Given the description of an element on the screen output the (x, y) to click on. 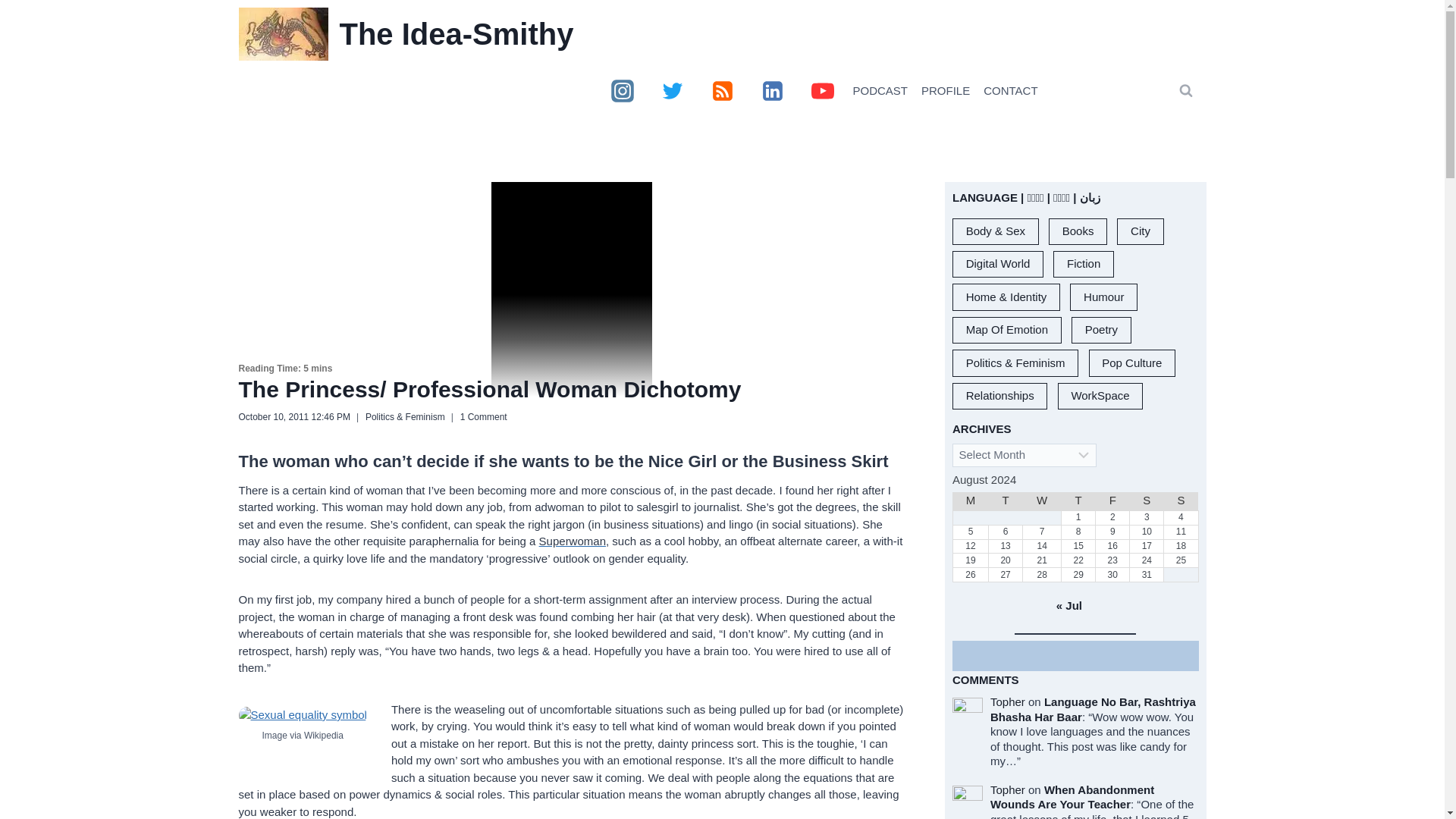
Tuesday (1005, 501)
Nice Girl (681, 461)
Wednesday (1042, 501)
1 Comment (483, 416)
Superwoman (571, 540)
Monday (970, 501)
PODCAST (880, 91)
The Idea-Smithy (405, 33)
1 Comment (483, 416)
PROFILE (945, 91)
